Given the description of an element on the screen output the (x, y) to click on. 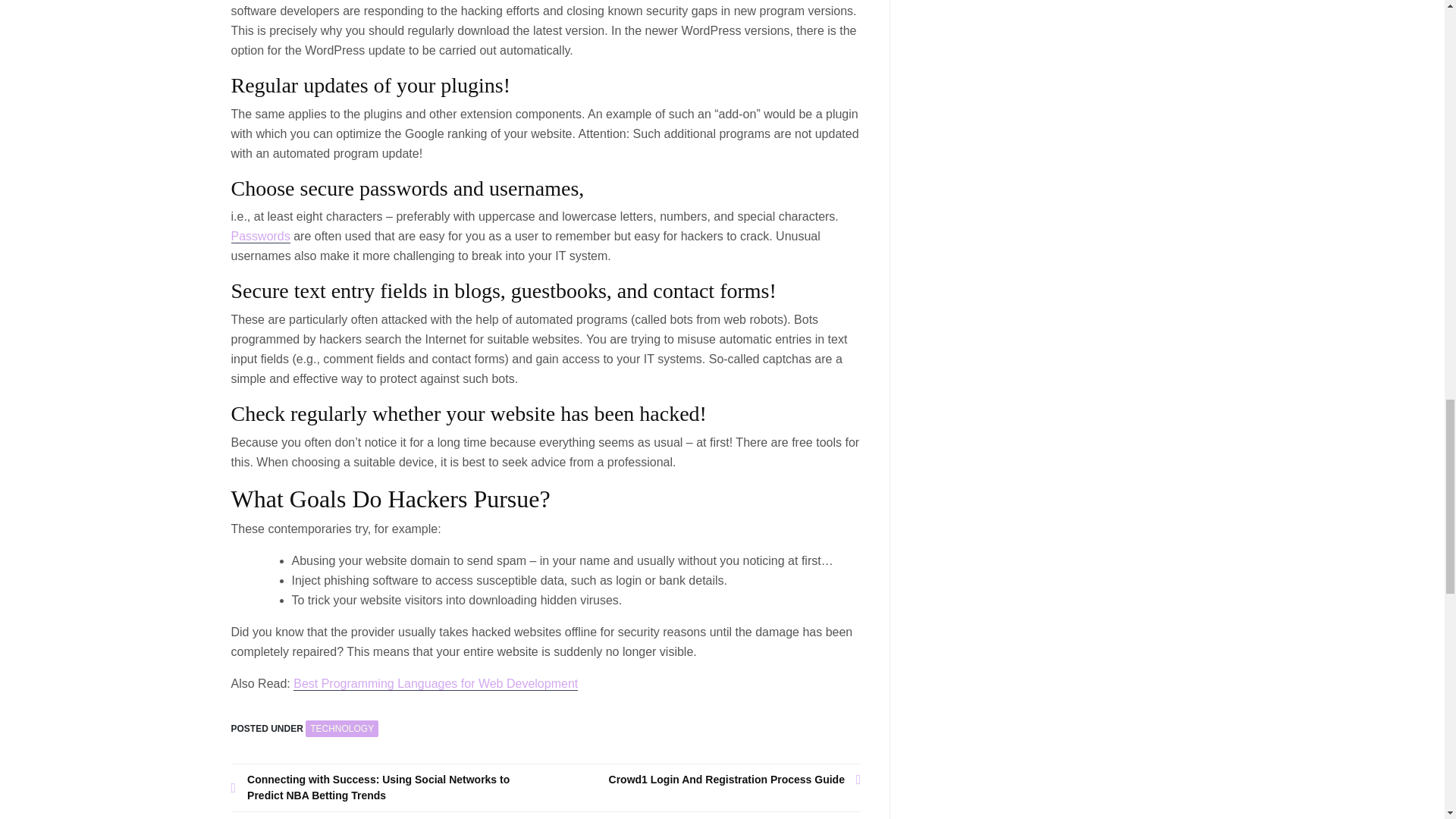
Crowd1 Login And Registration Process Guide (703, 779)
Best Programming Languages for Web Development (436, 684)
Passwords (259, 236)
TECHNOLOGY (341, 728)
